Given the description of an element on the screen output the (x, y) to click on. 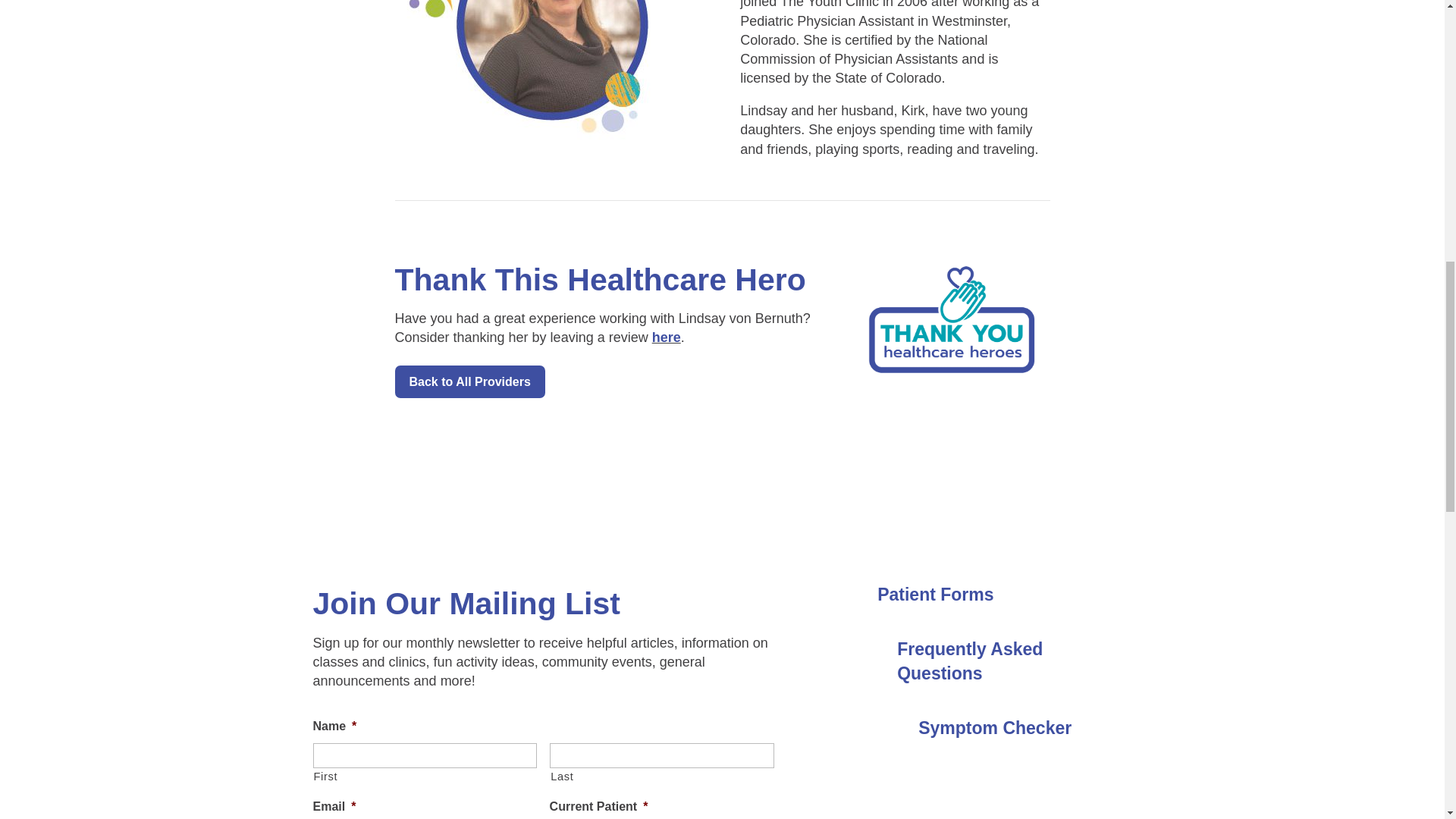
Thank You-2-01 (952, 319)
